Given the description of an element on the screen output the (x, y) to click on. 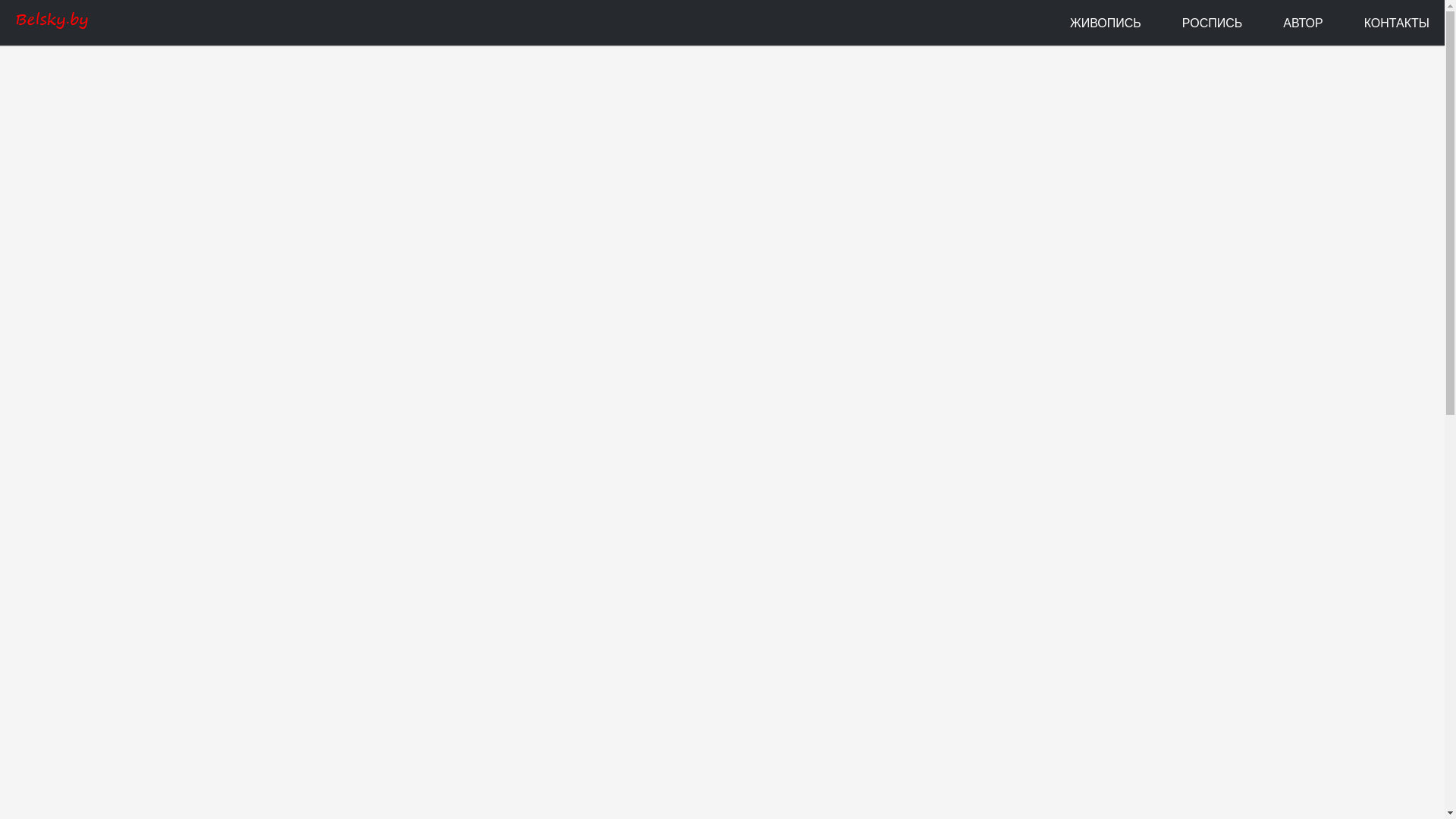
Brushed Template Element type: text (51, 22)
